Given the description of an element on the screen output the (x, y) to click on. 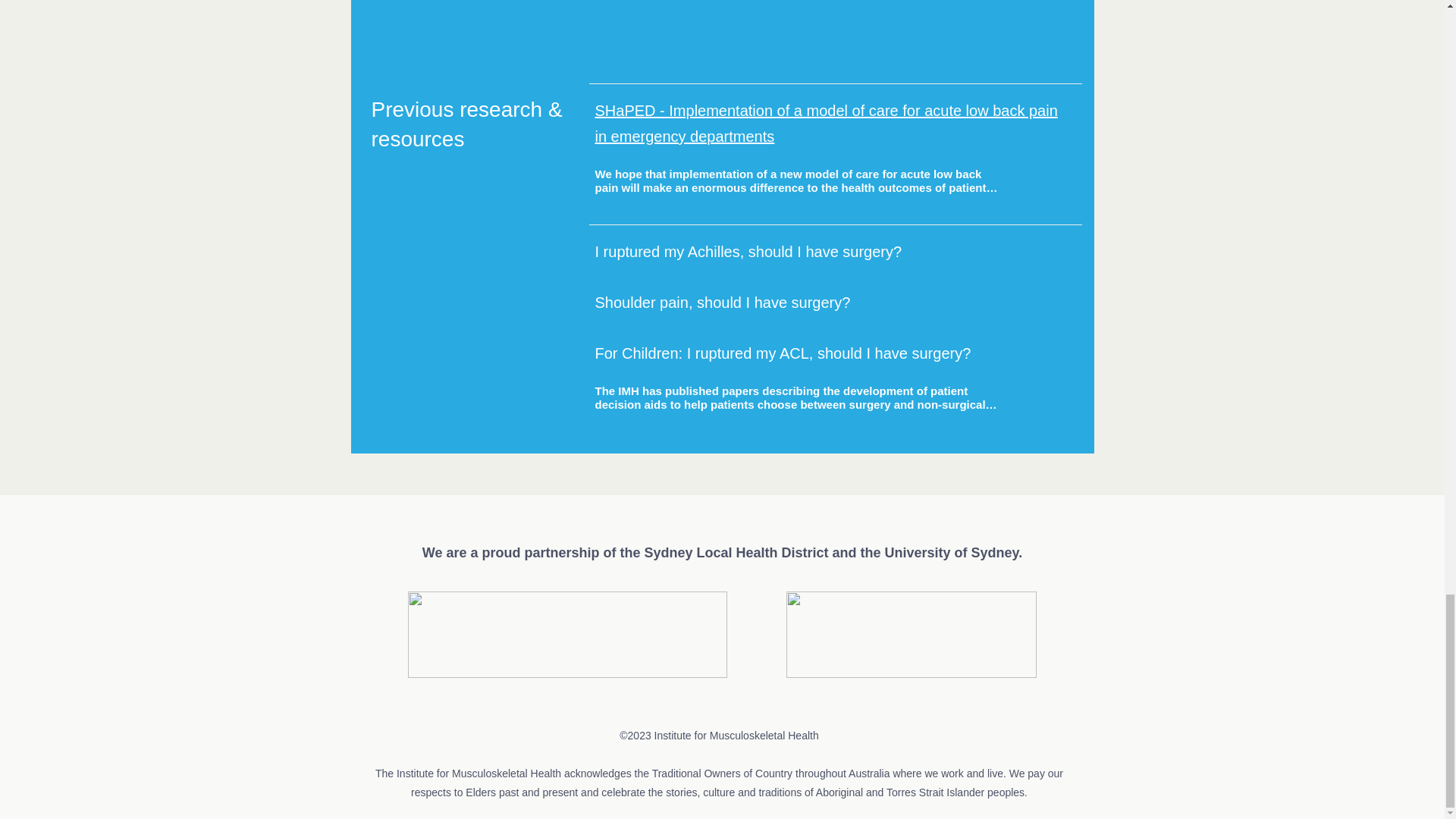
For Children: I ruptured my ACL, should I have surgery? (782, 352)
I ruptured my Achilles, should I have surgery? (747, 251)
Shoulder pain, should I have surgery? (722, 302)
PRIMARY-SydneyLHD-logo.png (566, 634)
USYD logo.png (910, 634)
